Given the description of an element on the screen output the (x, y) to click on. 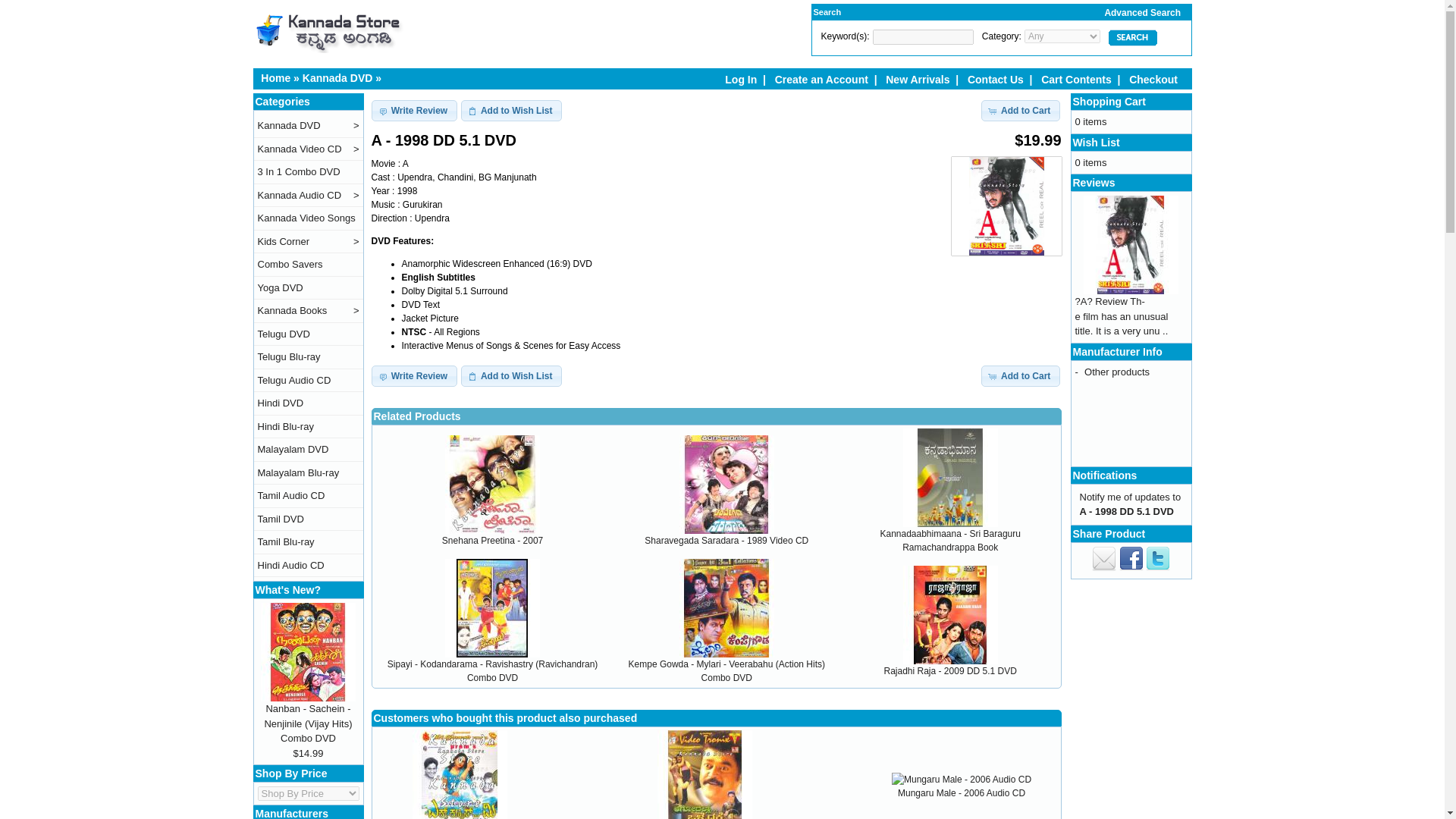
Write Review (414, 110)
Aagodella Olledakke - 2004 Video CD (705, 774)
Log In (741, 79)
Snehana Preetina - 2007 (492, 483)
Home (274, 78)
Kannadaabhimaana - Sri Baraguru Ramachandrappa Book (949, 477)
Rajadhi Raja - 2009 DD 5.1 DVD (949, 614)
Mungaru Male - 2006 Audio CD (961, 792)
New Arrivals (917, 79)
Sharavegada Saradara - 1989 Video CD (726, 540)
Rajadhi Raja - 2009 DD 5.1 DVD (949, 670)
A - 1998 DD 5.1 DVD (1005, 206)
Kannada DVD (337, 78)
Advanced Search (1113, 12)
Add to Wish List (511, 375)
